Given the description of an element on the screen output the (x, y) to click on. 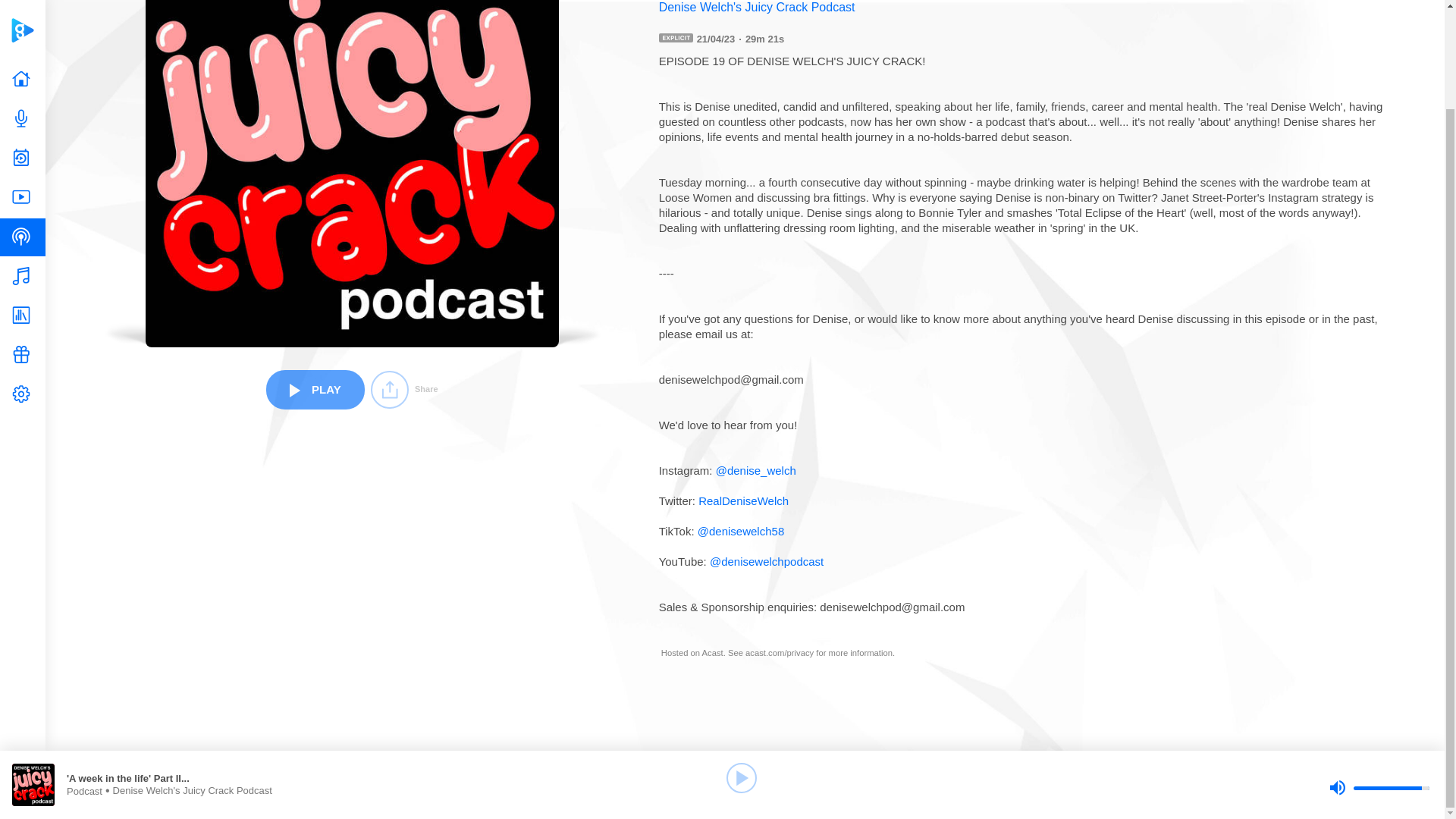
Denise Welch's Juicy Crack Podcast (1027, 7)
Share (404, 389)
'A week in the life' Part II... (213, 664)
PLAY (315, 388)
RealDeniseWelch (743, 500)
Mute (1336, 672)
Share (404, 389)
Play (741, 663)
